Given the description of an element on the screen output the (x, y) to click on. 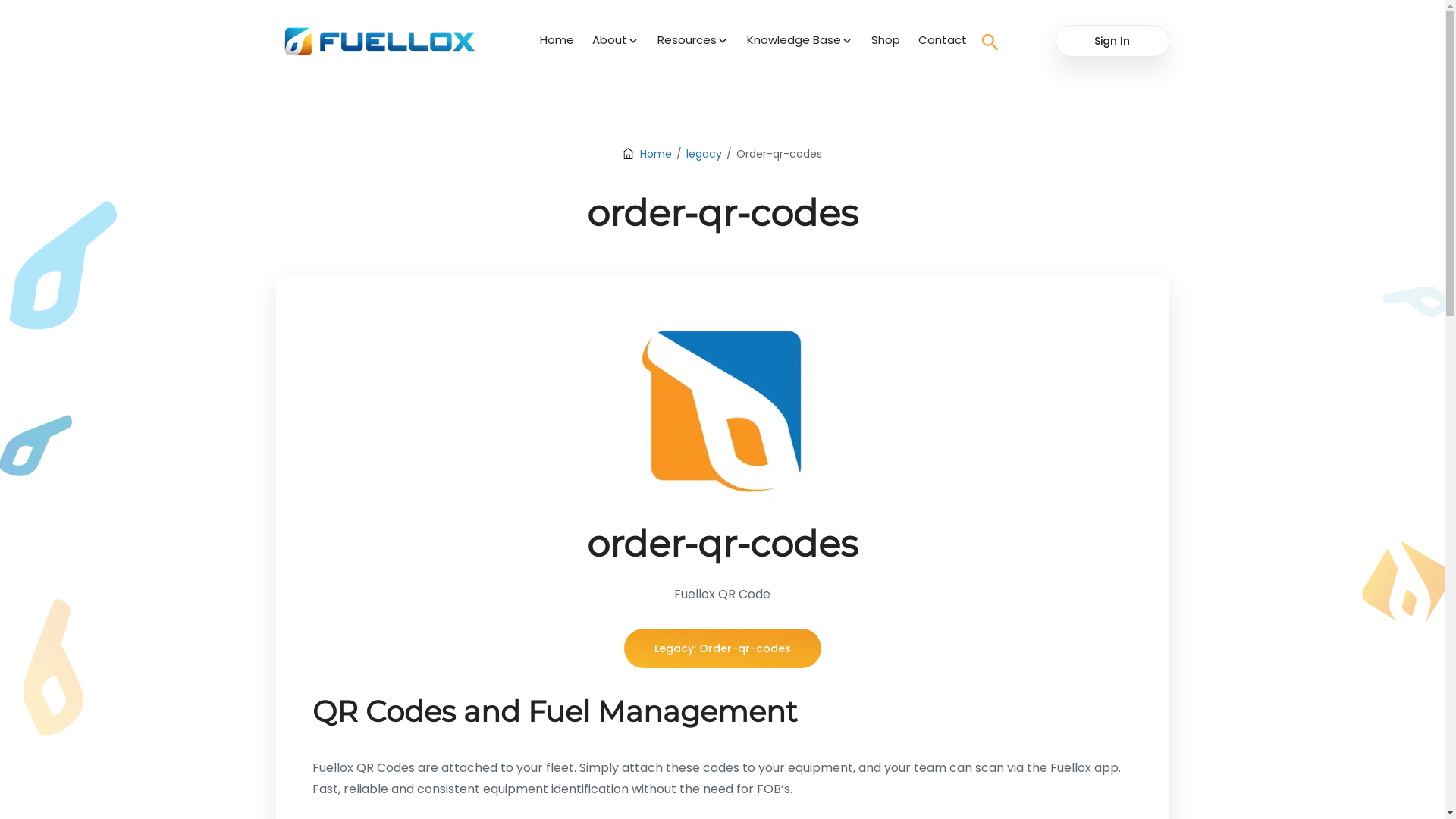
Home Element type: text (556, 40)
Sign In Element type: text (1112, 40)
Home Element type: text (646, 153)
Legacy: Order-qr-codes Element type: text (721, 648)
legacy Element type: text (703, 153)
Contact Element type: text (942, 40)
Shop Element type: text (885, 40)
